Given the description of an element on the screen output the (x, y) to click on. 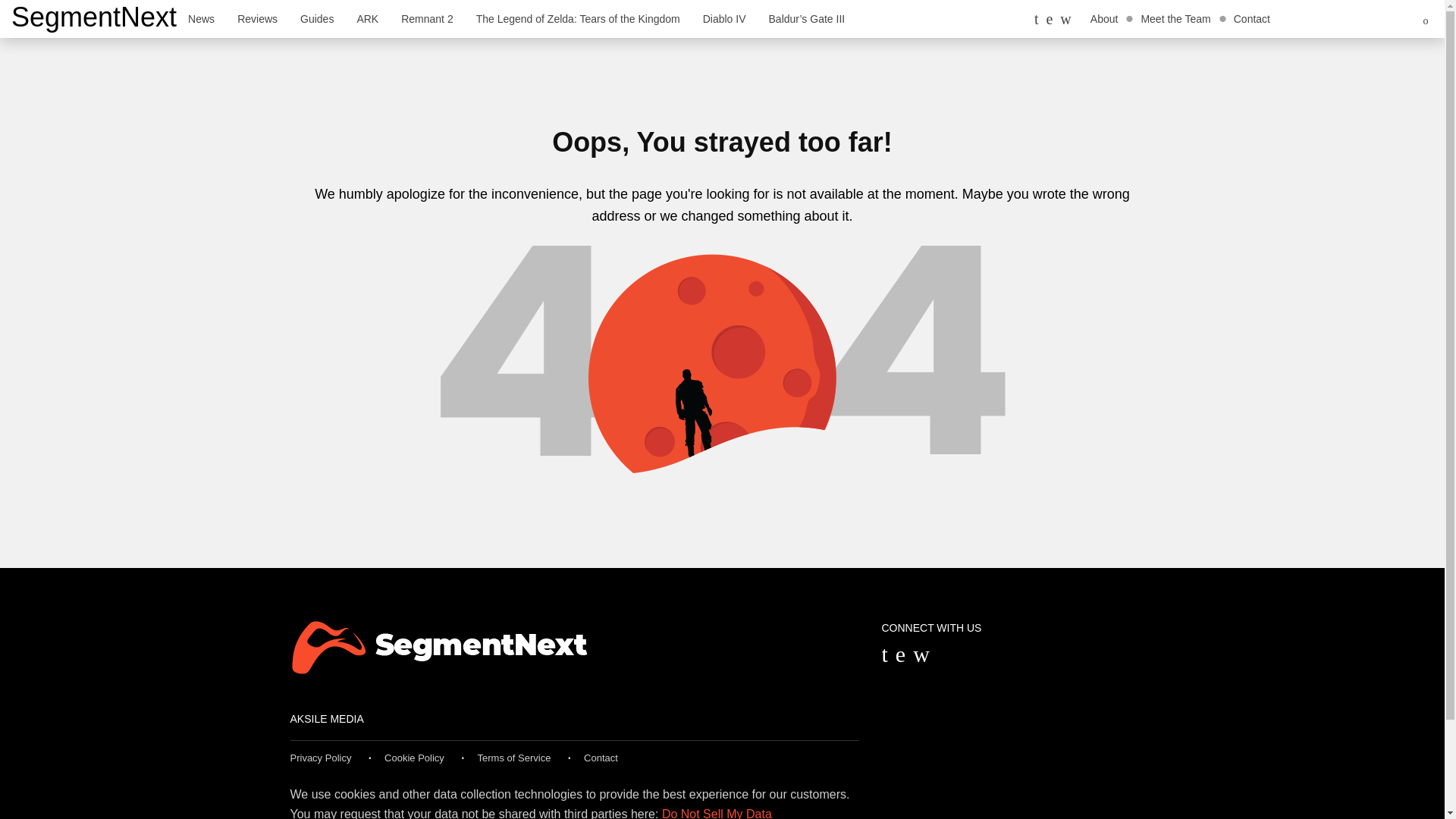
Diablo IV (724, 18)
Contact (600, 757)
Reviews (256, 18)
News (200, 18)
SegmentNext (93, 16)
Cookie Policy (414, 757)
About (1103, 18)
Remnant 2 (427, 18)
Meet the Team (1175, 18)
Guides (316, 18)
